Given the description of an element on the screen output the (x, y) to click on. 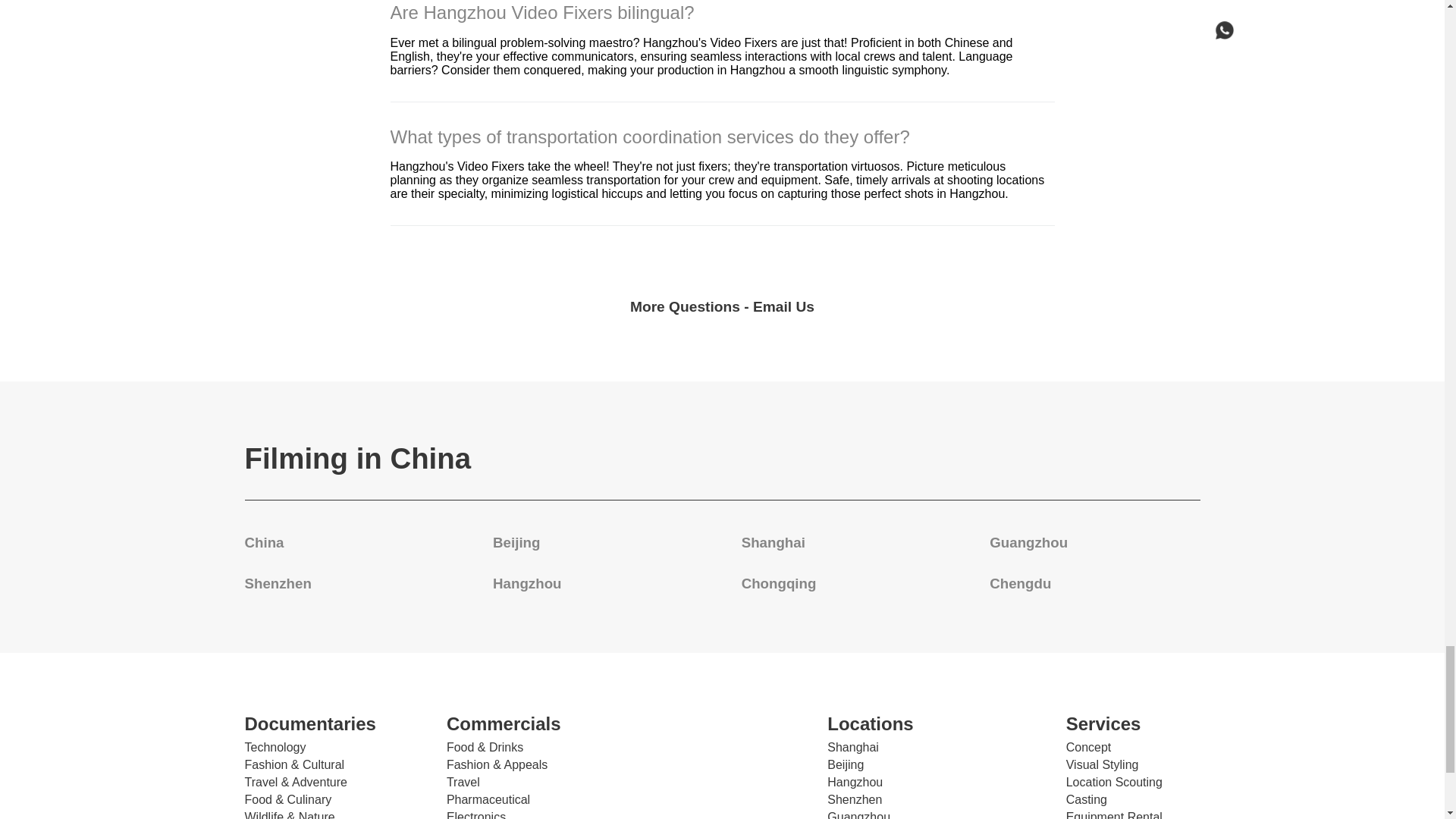
Chongqing Video Production Fixer (778, 583)
Documentaries (329, 723)
Beijing (516, 542)
Shanghai (773, 542)
Beijing Video Production Fixer (516, 542)
Hangzhou Video Production Fixer (526, 583)
Chengdu (1020, 583)
Guangzhou Video Production Fixer (1028, 542)
Technology (274, 747)
Shanghai Video Production Fixer (773, 542)
Hangzhou (526, 583)
Commercials (531, 723)
More Questions - Email Us (721, 303)
China Video Production Fixer (263, 542)
More Questions - Email Us (721, 306)
